Given the description of an element on the screen output the (x, y) to click on. 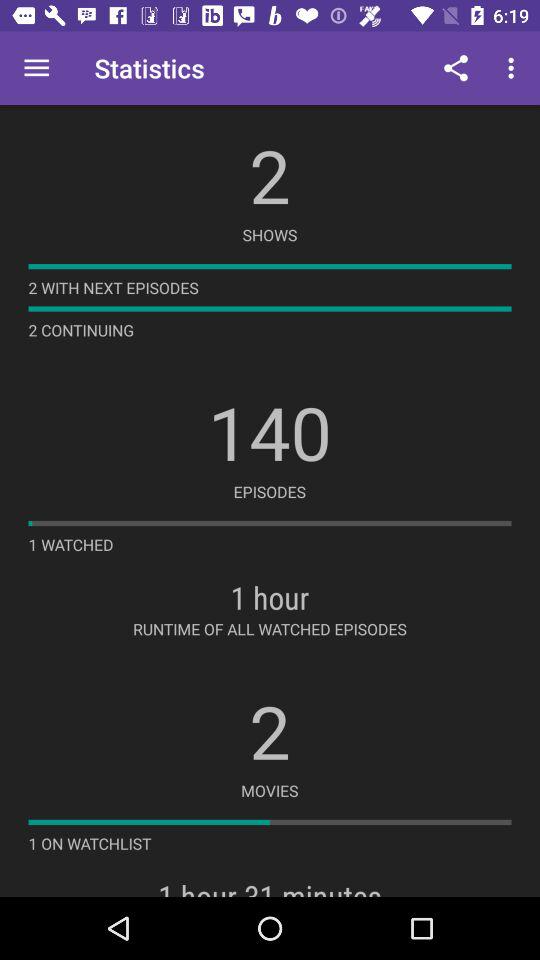
select 1 on watchlist (89, 843)
